Given the description of an element on the screen output the (x, y) to click on. 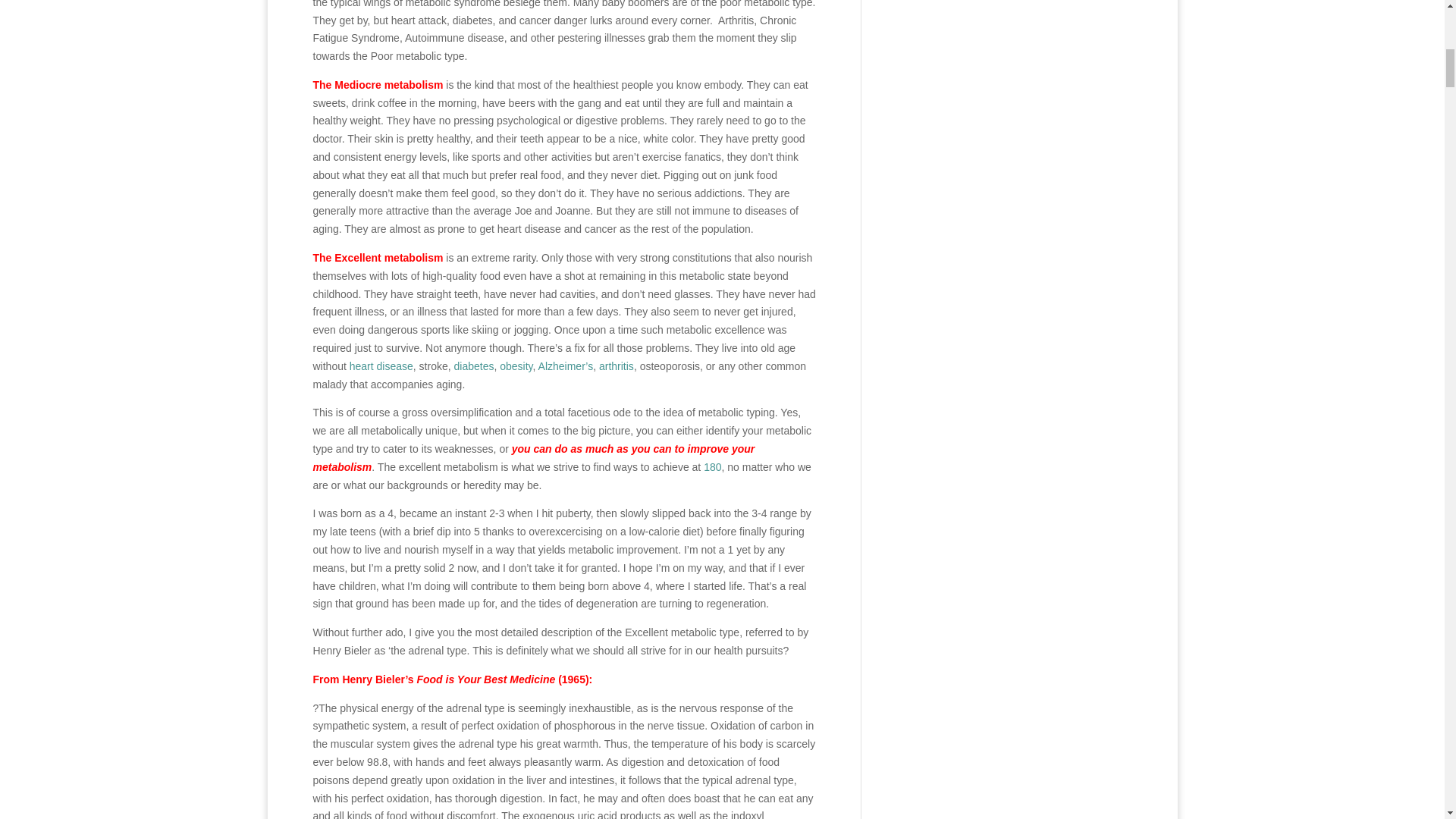
heart disease (381, 366)
diabetes (472, 366)
180 (711, 467)
obesity (515, 366)
arthritis (615, 366)
